Given the description of an element on the screen output the (x, y) to click on. 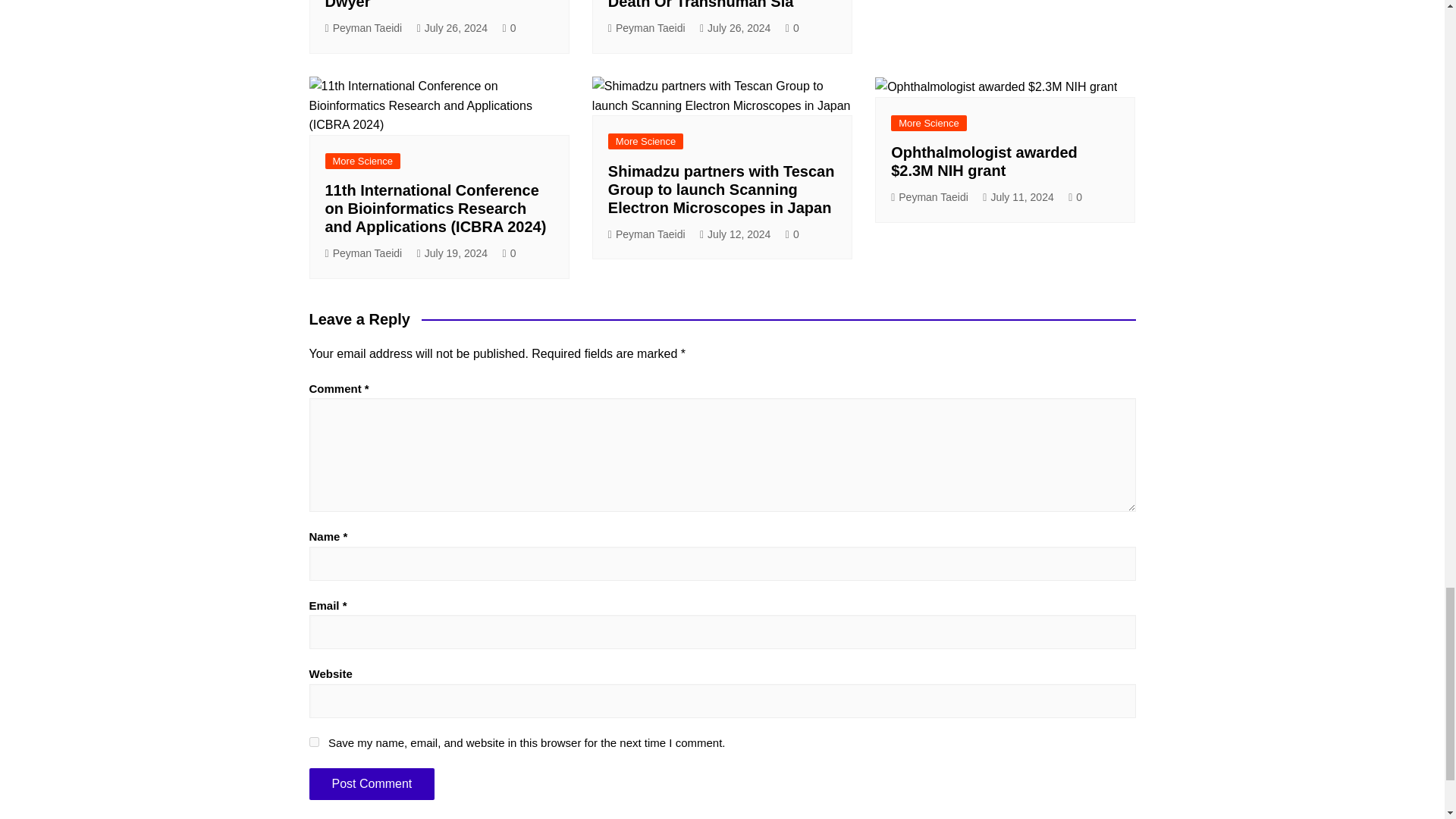
An interview with AES Mid-Career Award recipient Jason Dwyer (430, 4)
July 26, 2024 (451, 27)
yes (313, 741)
Peyman Taeidi (362, 27)
0 (509, 27)
July 26, 2024 (735, 27)
0 (792, 27)
Peyman Taeidi (646, 27)
Post Comment (371, 783)
More Science (361, 160)
